Given the description of an element on the screen output the (x, y) to click on. 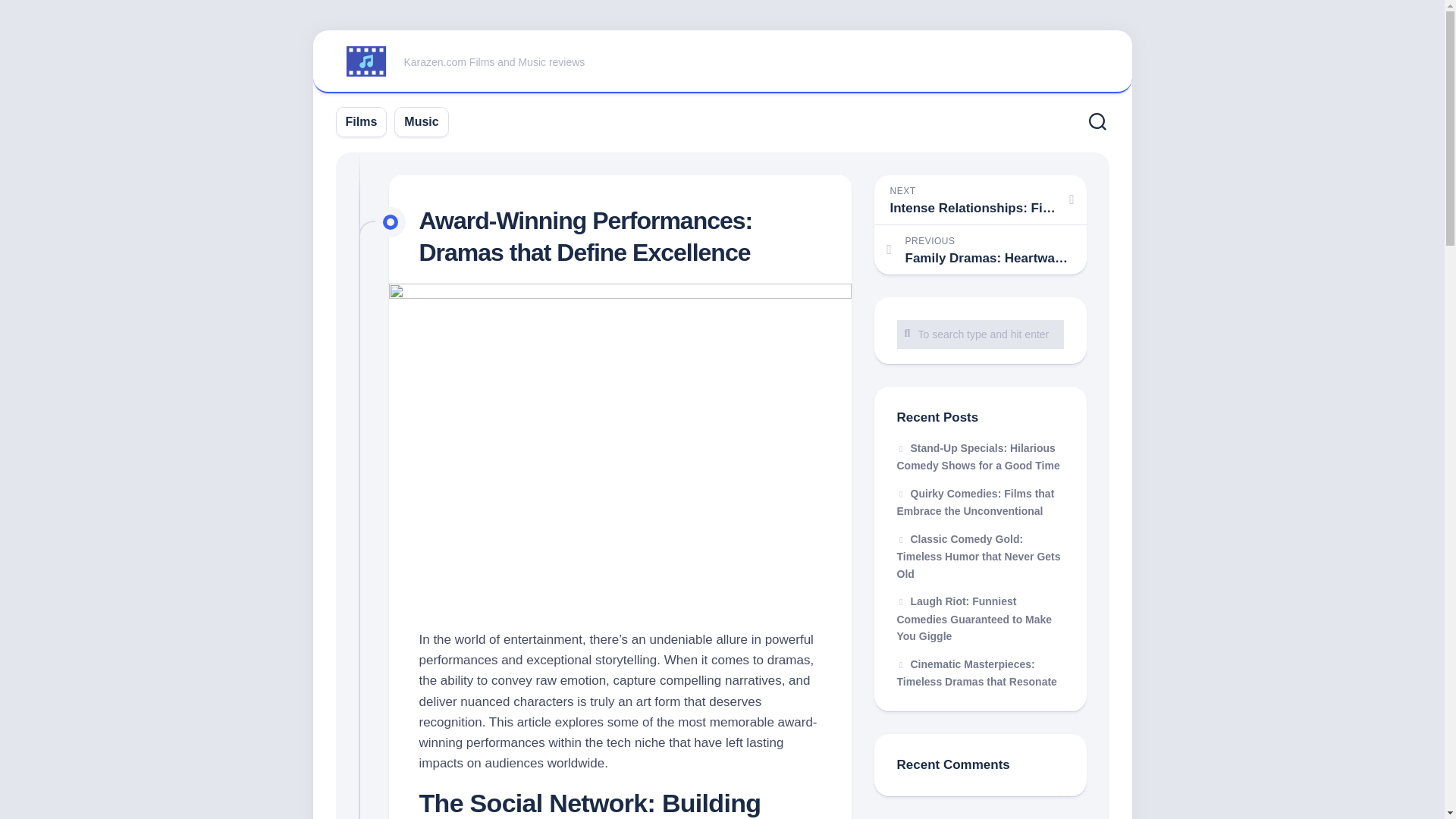
Stand-Up Specials: Hilarious Comedy Shows for a Good Time (977, 456)
Laugh Riot: Funniest Comedies Guaranteed to Make You Giggle (973, 618)
Cinematic Masterpieces: Timeless Dramas that Resonate (979, 199)
Quirky Comedies: Films that Embrace the Unconventional (976, 673)
Films (975, 501)
Classic Comedy Gold: Timeless Humor that Never Gets Old (361, 121)
To search type and hit enter (977, 555)
Karazen.com Films and Music reviews (979, 334)
To search type and hit enter (722, 62)
Music (979, 334)
